Given the description of an element on the screen output the (x, y) to click on. 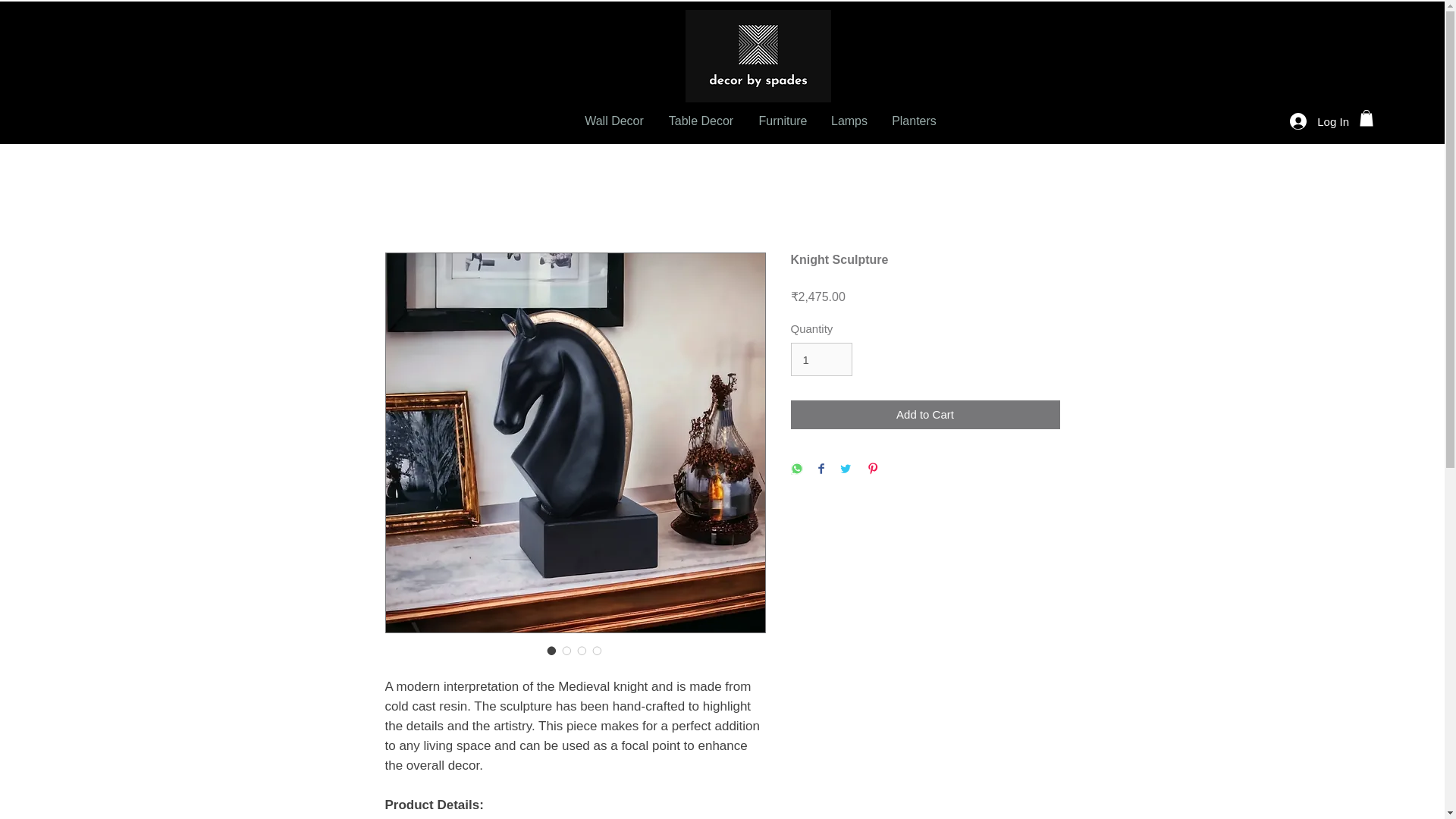
Wall Decor (614, 120)
Planters (914, 120)
Add to Cart (924, 414)
Log In (1319, 121)
1 (820, 359)
